Given the description of an element on the screen output the (x, y) to click on. 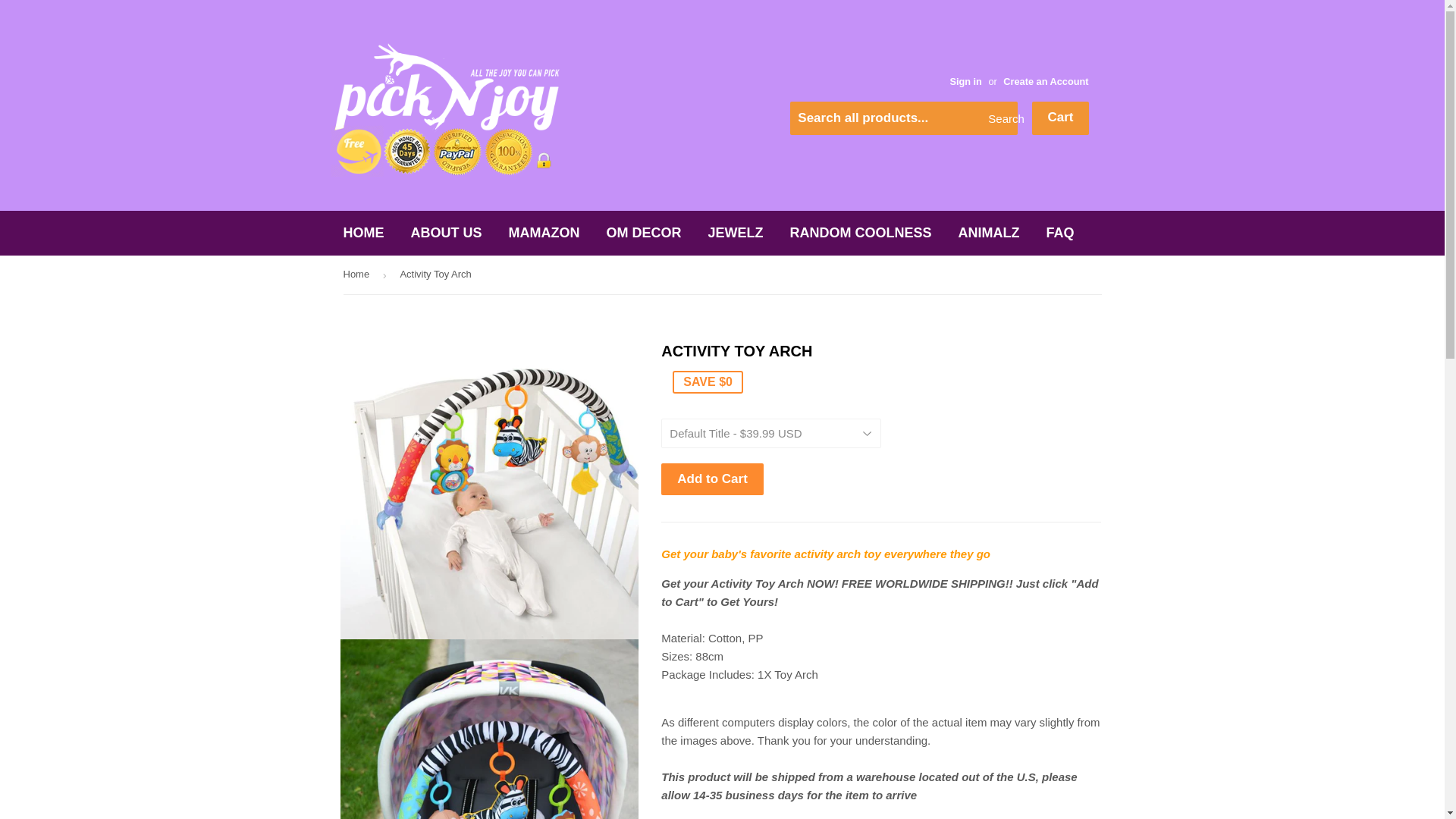
Create an Account (1045, 81)
MAMAZON (544, 232)
Cart (1059, 118)
ABOUT US (445, 232)
ANIMALZ (988, 232)
JEWELZ (735, 232)
RANDOM COOLNESS (860, 232)
Sign in (965, 81)
Search (1000, 119)
HOME (363, 232)
OM DECOR (644, 232)
FAQ (1060, 232)
